Given the description of an element on the screen output the (x, y) to click on. 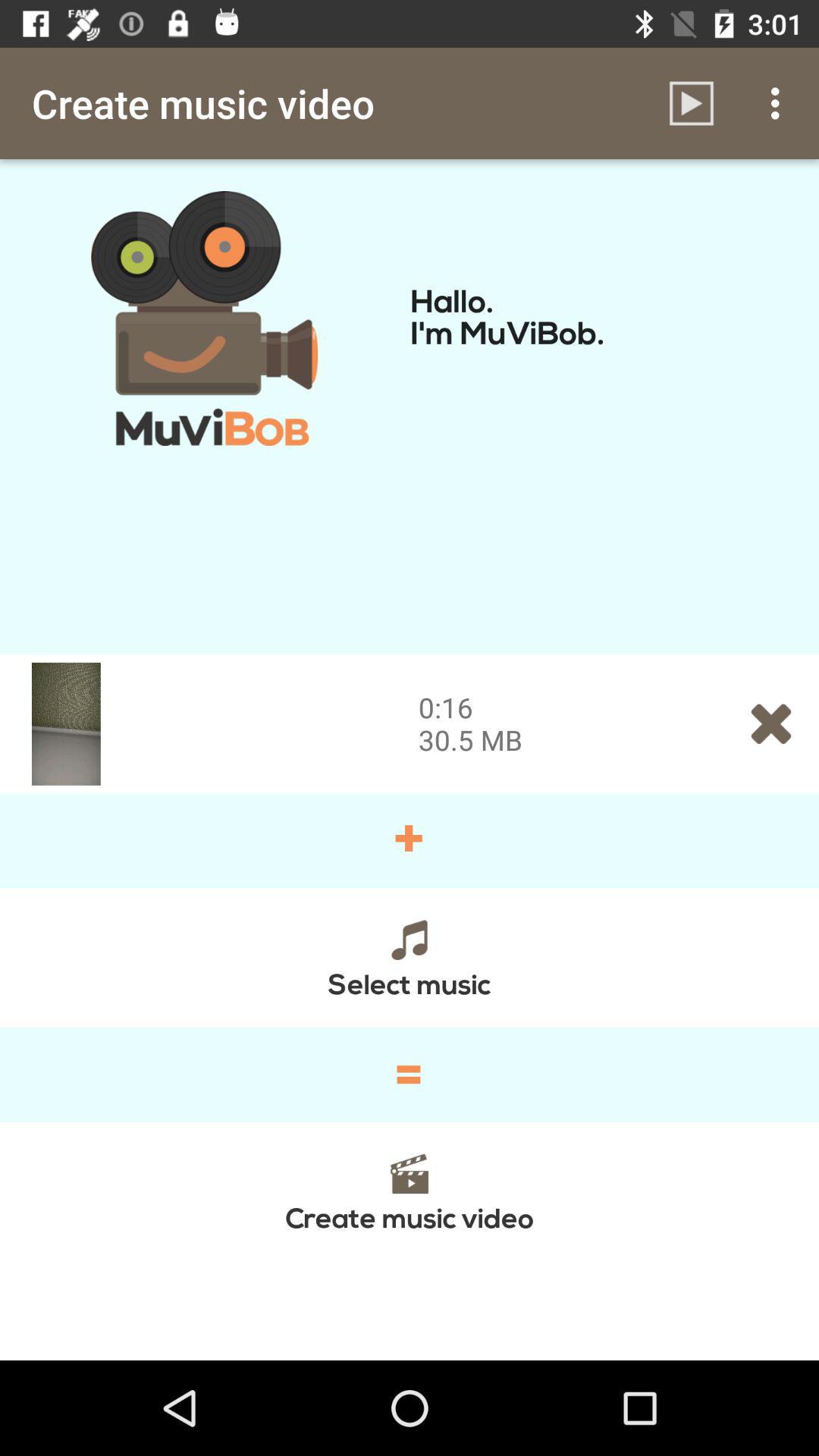
click icon above the hallo i m icon (691, 103)
